Given the description of an element on the screen output the (x, y) to click on. 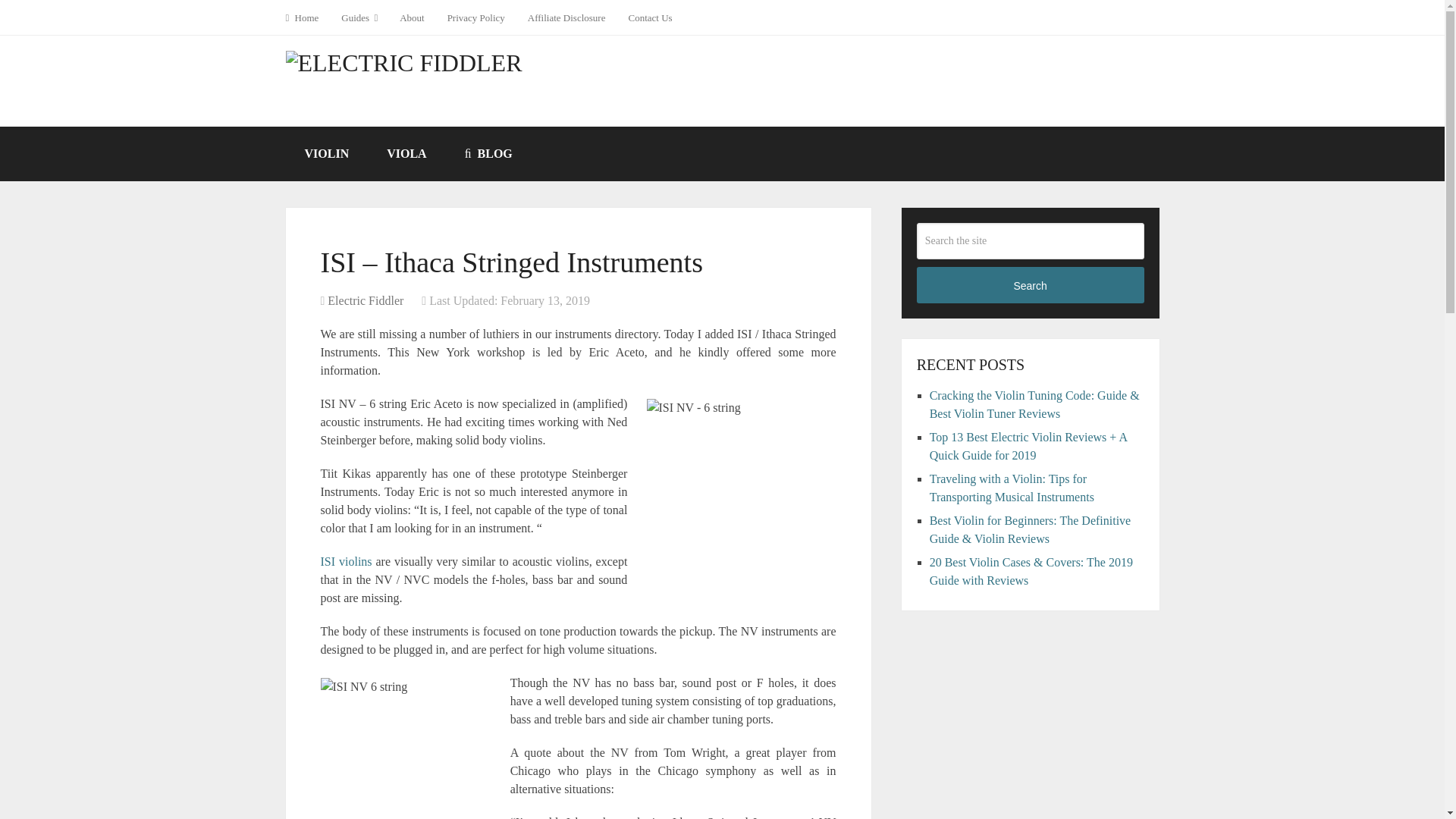
BLOG (488, 153)
Guides (359, 17)
ISI violins (345, 561)
Search (1030, 284)
Privacy Policy (475, 17)
Contact Us (648, 17)
About (411, 17)
Posts by Electric Fiddler (365, 300)
Affiliate Disclosure (566, 17)
Electric Fiddler (365, 300)
